Given the description of an element on the screen output the (x, y) to click on. 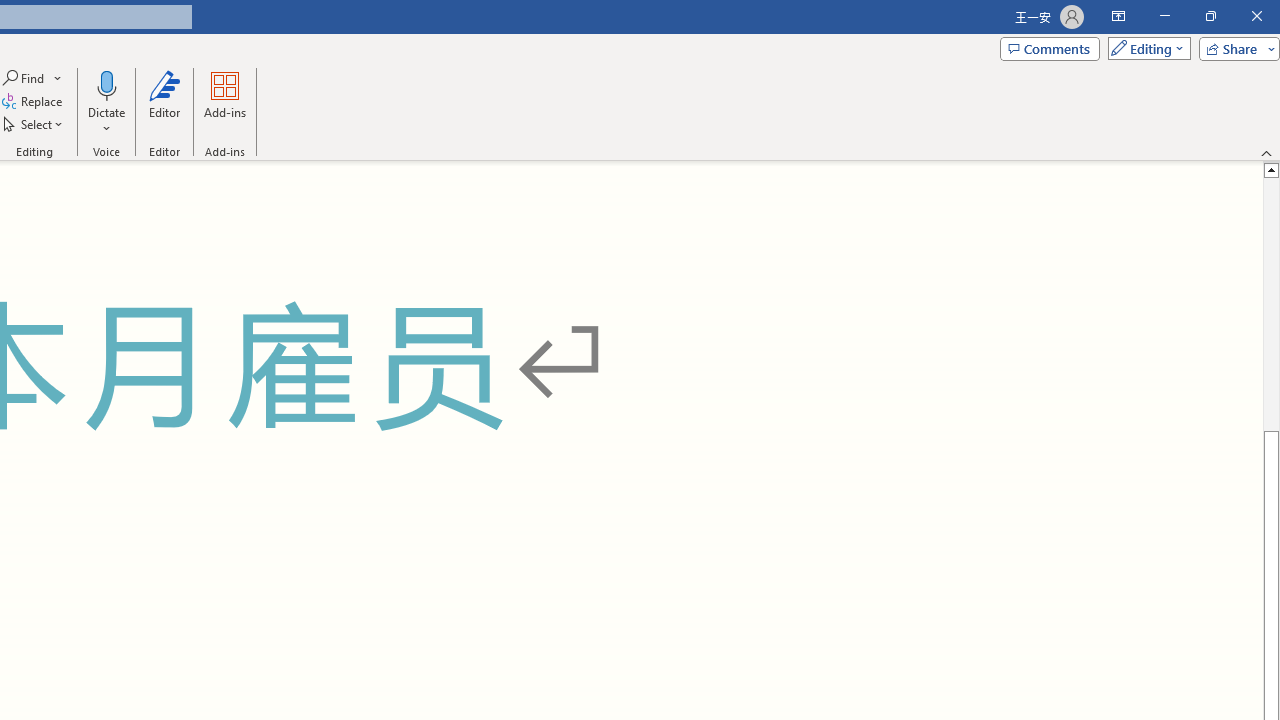
Line up (1271, 169)
Page up (1271, 304)
Editing (1144, 47)
